Given the description of an element on the screen output the (x, y) to click on. 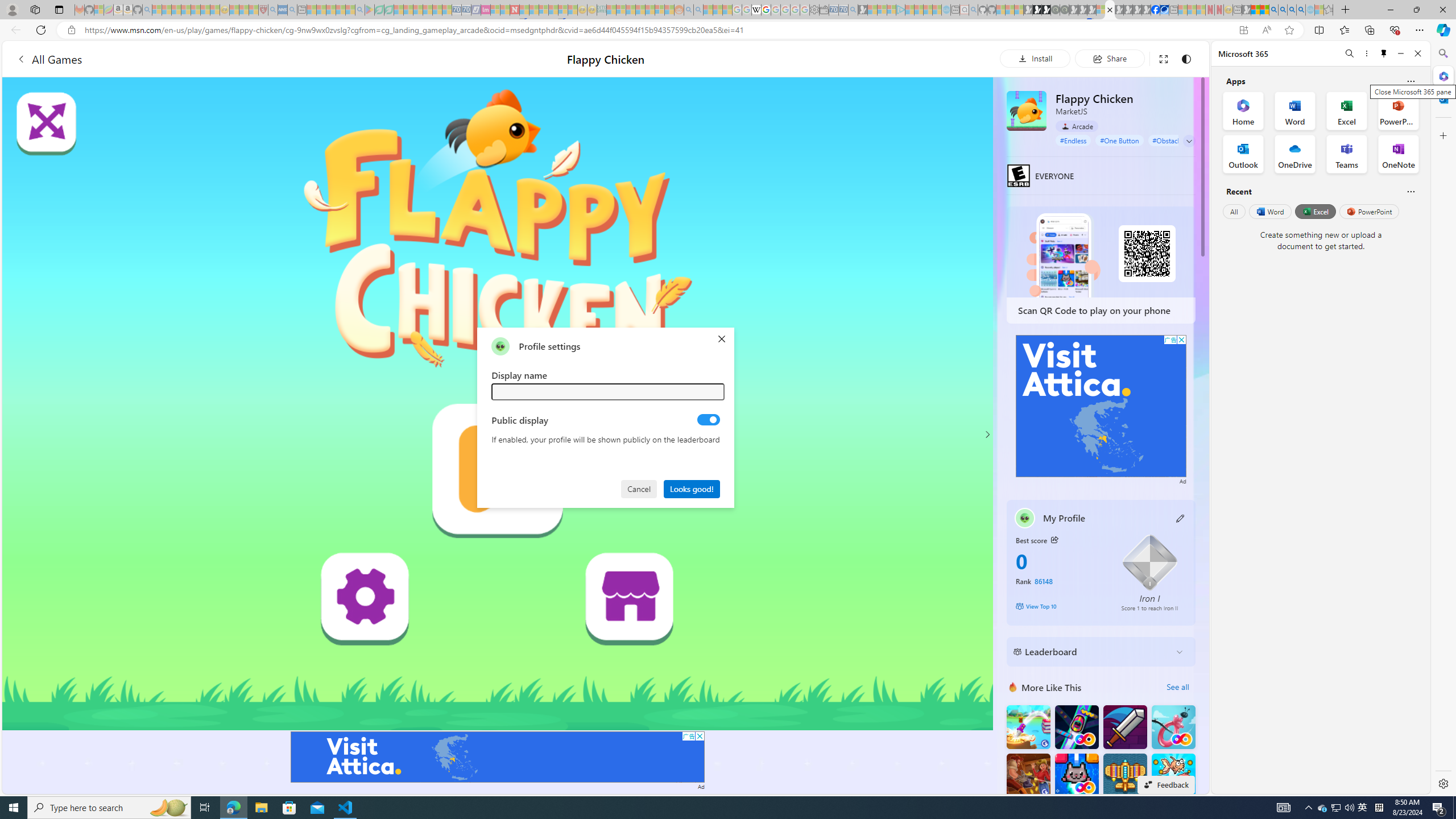
See all (1177, 687)
Teams Office App (1346, 154)
Arcade (1076, 125)
google - Search - Sleeping (359, 9)
Local - MSN - Sleeping (253, 9)
